Given the description of an element on the screen output the (x, y) to click on. 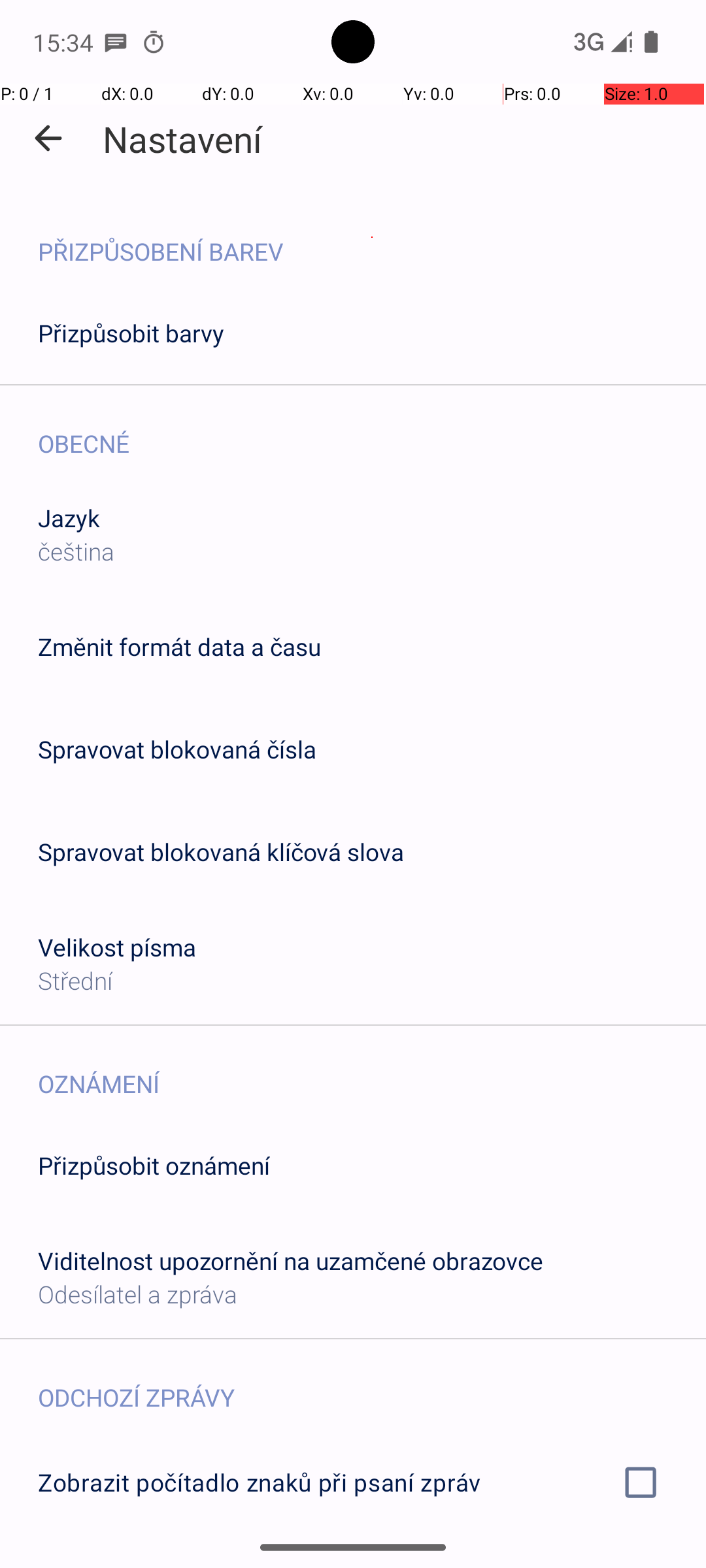
Zpět Element type: android.widget.ImageButton (48, 138)
PŘIZPŮSOBENÍ BAREV Element type: android.widget.TextView (371, 237)
OBECNÉ Element type: android.widget.TextView (371, 429)
OZNÁMENÍ Element type: android.widget.TextView (371, 1069)
ODCHOZÍ ZPRÁVY Element type: android.widget.TextView (371, 1383)
Přizpůsobit barvy Element type: android.widget.TextView (130, 332)
Jazyk Element type: android.widget.TextView (68, 517)
čeština Element type: android.widget.TextView (75, 550)
Změnit formát data a času Element type: android.widget.TextView (178, 646)
Spravovat blokovaná čísla Element type: android.widget.TextView (176, 748)
Spravovat blokovaná klíčová slova Element type: android.widget.TextView (220, 851)
Velikost písma Element type: android.widget.TextView (116, 946)
Střední Element type: android.widget.TextView (74, 979)
Přizpůsobit oznámení Element type: android.widget.TextView (153, 1164)
Viditelnost upozornění na uzamčené obrazovce Element type: android.widget.TextView (290, 1260)
Odesílatel a zpráva Element type: android.widget.TextView (137, 1293)
Zobrazit počítadlo znaků při psaní zpráv Element type: android.widget.CheckBox (352, 1482)
Odstranit diakritiku při odesílání zprávy Element type: android.widget.CheckBox (352, 1559)
